Given the description of an element on the screen output the (x, y) to click on. 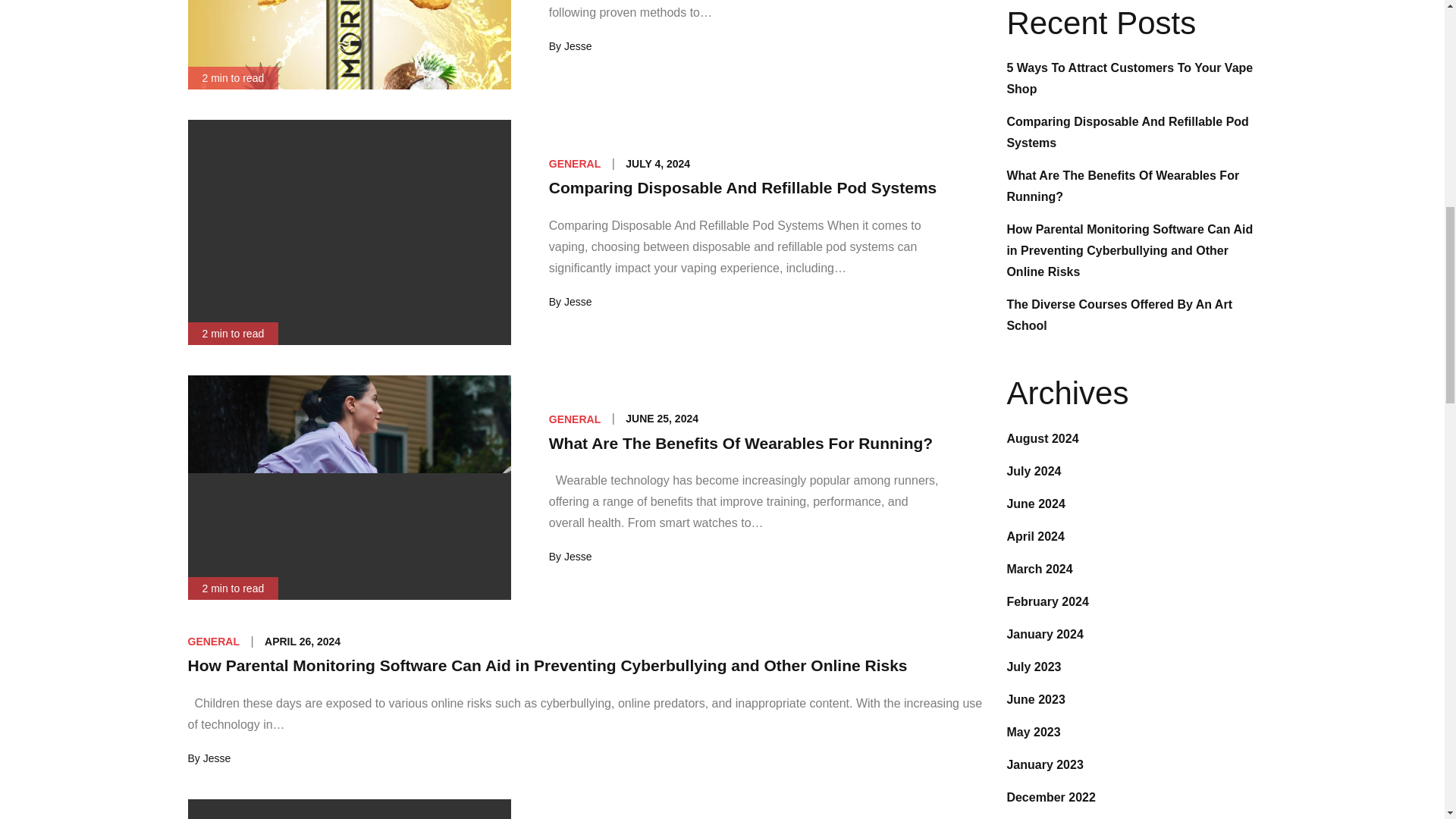
JUNE 25, 2024 (662, 418)
Jesse (578, 46)
Comparing Disposable And Refillable Pod Systems (742, 187)
What Are The Benefits Of Wearables For Running? (740, 443)
GENERAL (573, 419)
GENERAL (573, 163)
GENERAL (213, 641)
Jesse (578, 556)
APRIL 26, 2024 (302, 641)
Jesse (217, 758)
JULY 4, 2024 (658, 163)
Jesse (578, 301)
